Given the description of an element on the screen output the (x, y) to click on. 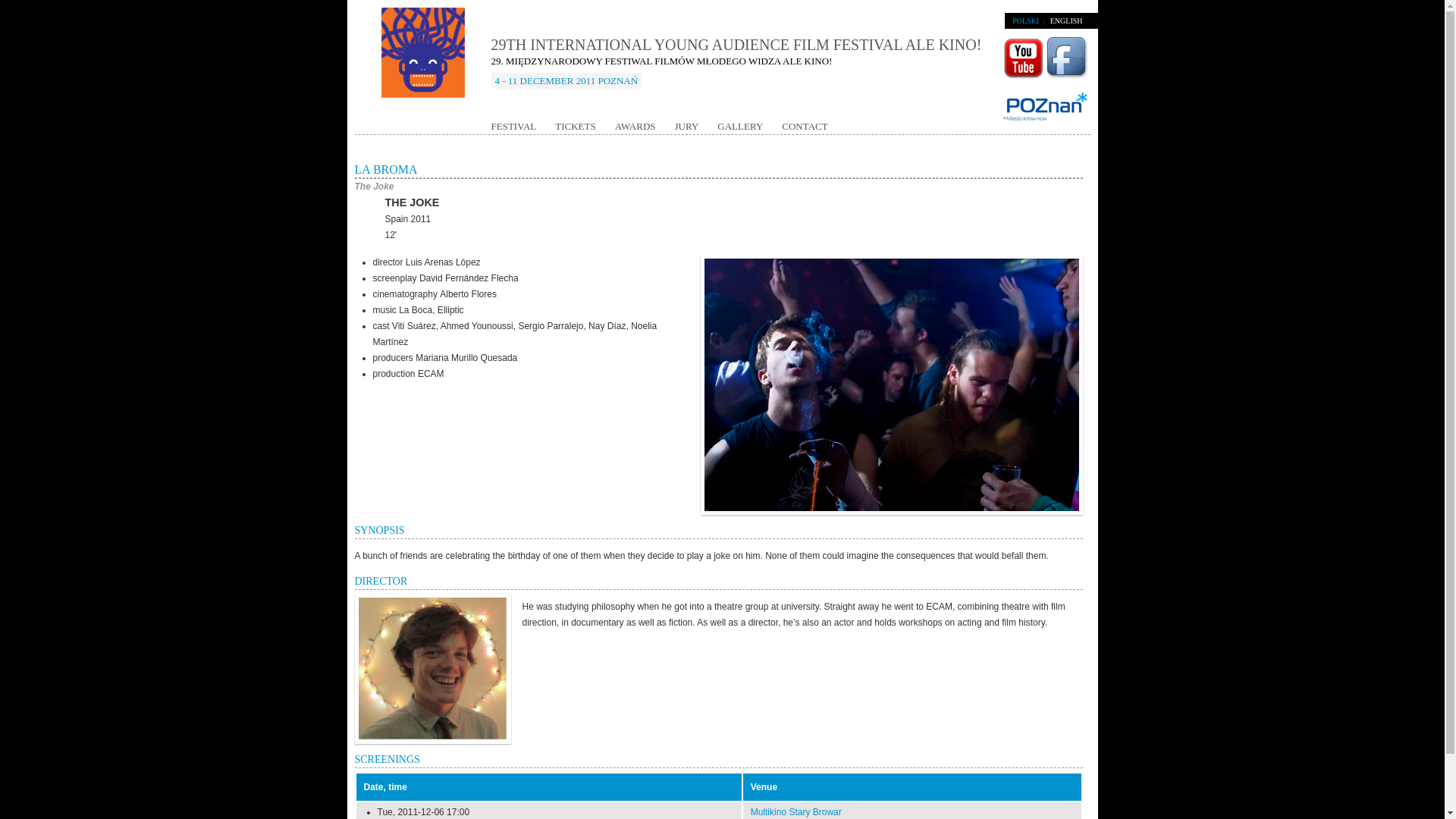
ENGLISH (1066, 20)
GALLERY (739, 125)
CONTACT (804, 125)
AWARDS (635, 125)
POLSKI (1025, 20)
Venue (764, 787)
sort by Venue (764, 787)
Ale Kino! (423, 67)
JURY (686, 125)
FESTIVAL (514, 125)
